Given the description of an element on the screen output the (x, y) to click on. 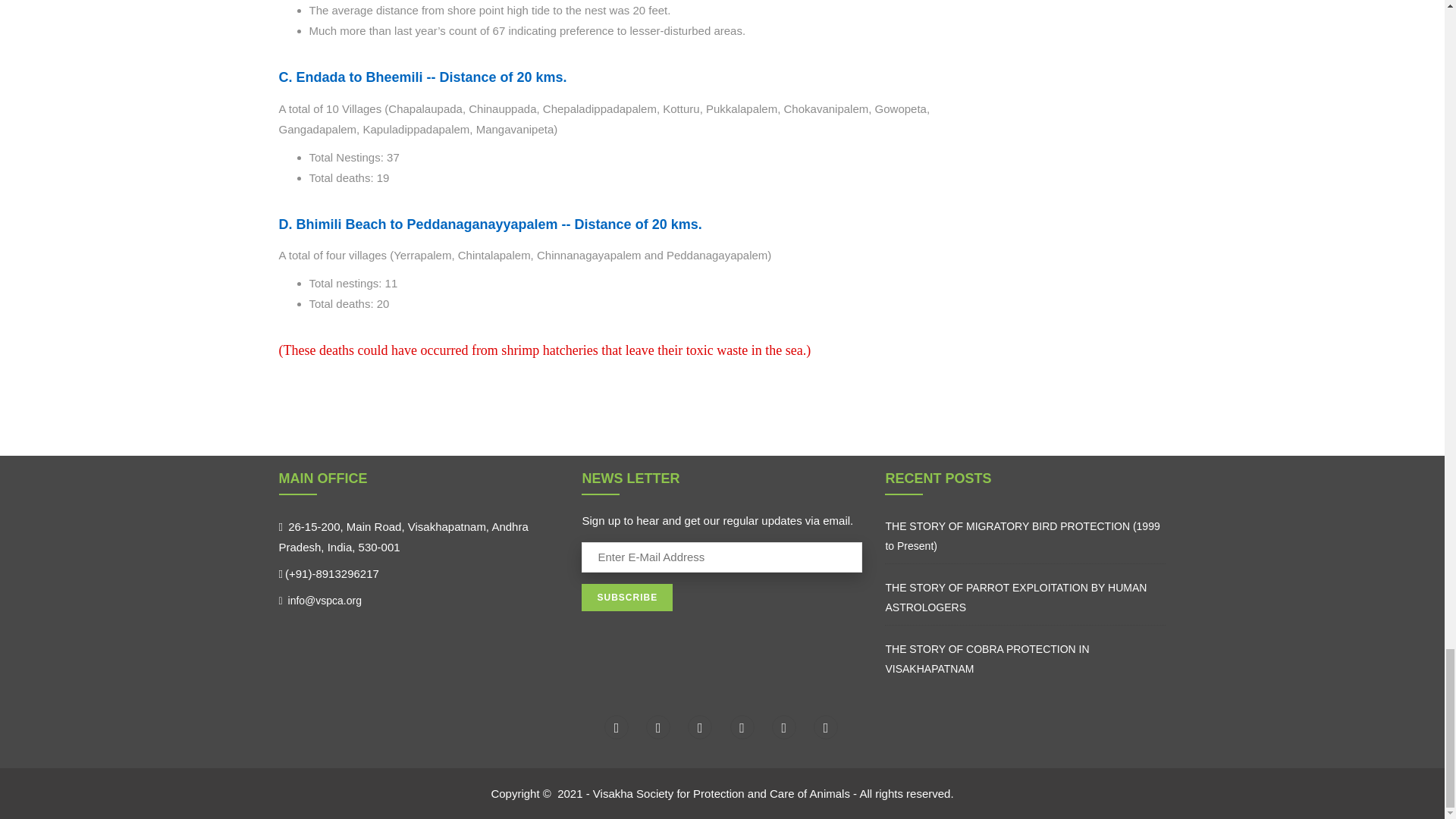
Subscribe (626, 596)
